Given the description of an element on the screen output the (x, y) to click on. 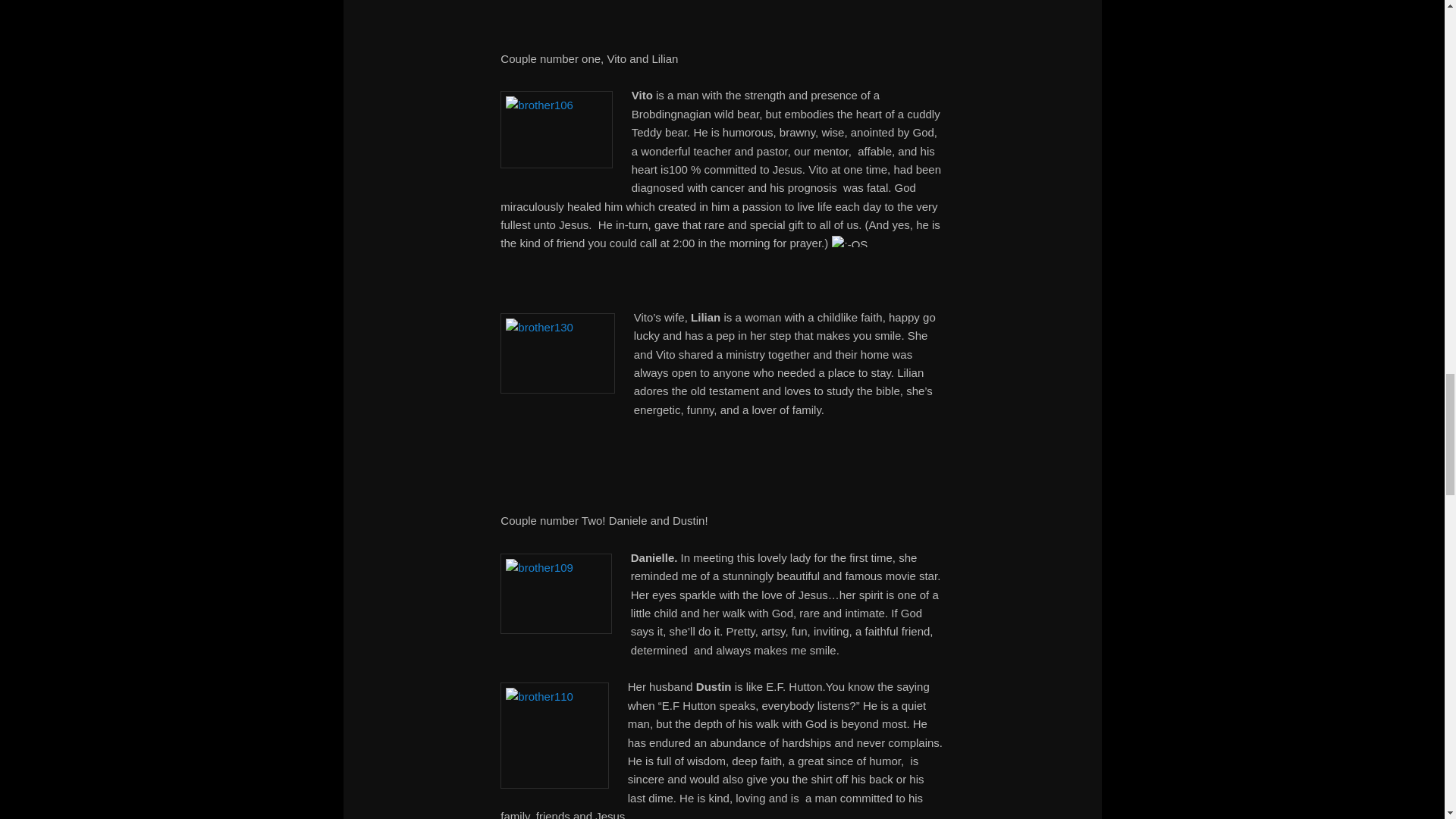
Google Image (557, 352)
Google Image (556, 129)
Google Image (554, 735)
Google Image (555, 593)
